Given the description of an element on the screen output the (x, y) to click on. 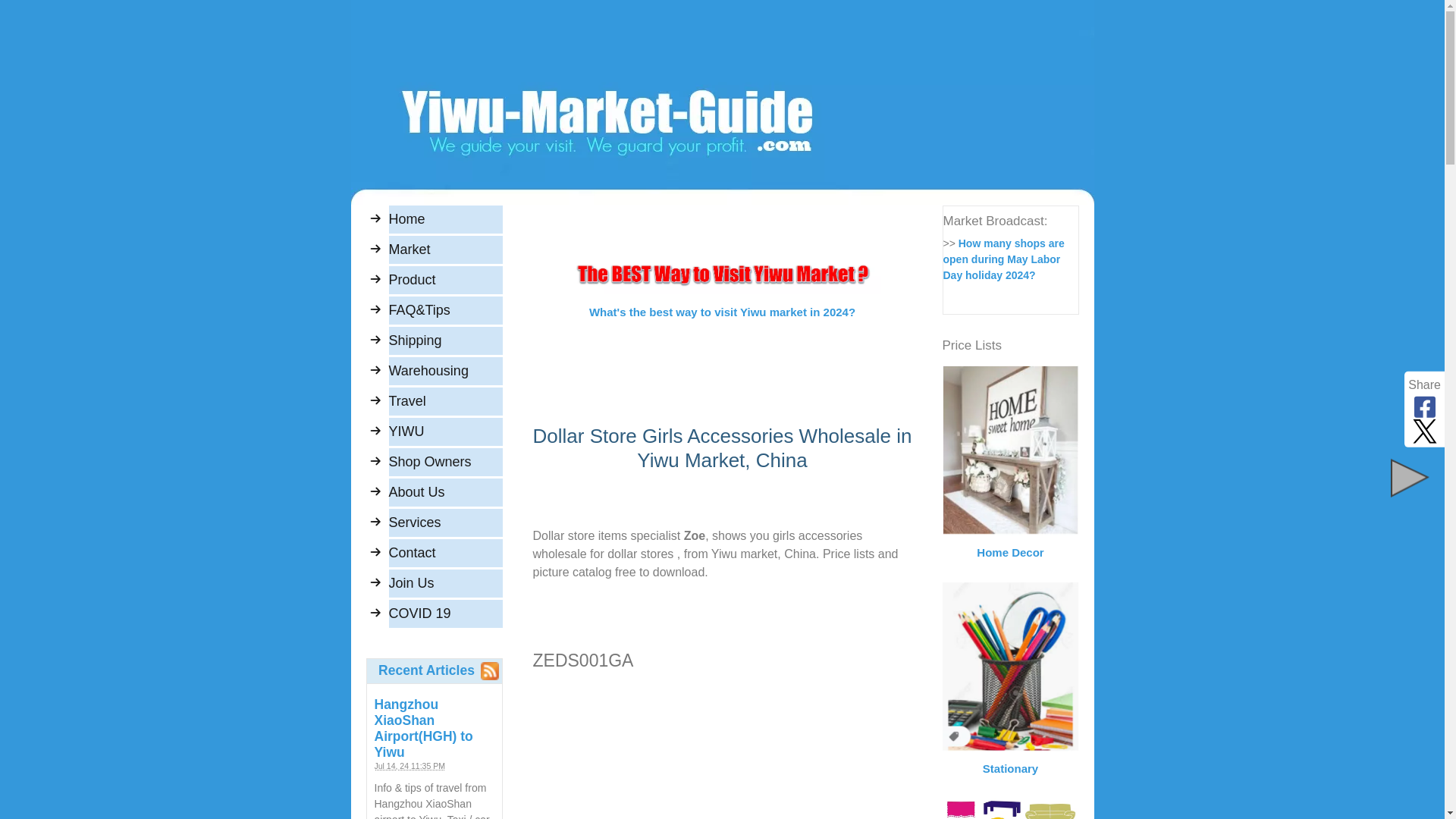
Warehousing (445, 370)
Home Decor (1010, 543)
Home decor wholesale price lists (1010, 450)
Product (445, 280)
Recent Articles (426, 670)
Stationary (1010, 760)
Household Items Wholesale Price Lists (1010, 808)
Market (445, 249)
About Us (445, 492)
Stationary wholesale price lists (1010, 666)
2024-07-14T23:35:28-0400 (409, 765)
the best way to visit Yiwu market in 2024 (722, 273)
How many shops are open during May Labor Day holiday 2024? (1003, 259)
Travel (445, 401)
Home (445, 219)
